Given the description of an element on the screen output the (x, y) to click on. 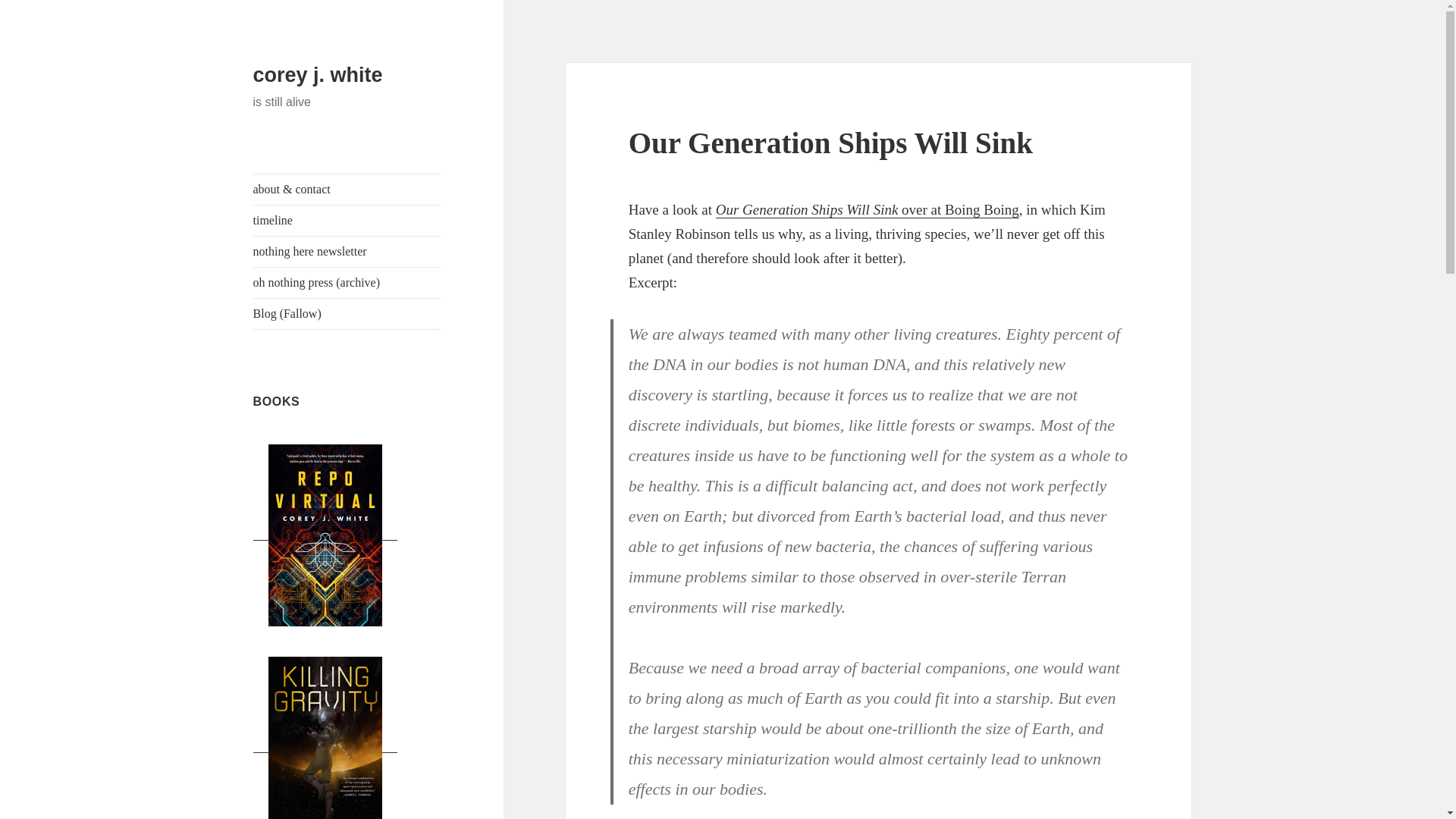
corey j. white (317, 74)
timeline (347, 220)
Our Generation Ships Will Sink over at Boing Boing (867, 209)
nothing here newsletter (347, 251)
